Given the description of an element on the screen output the (x, y) to click on. 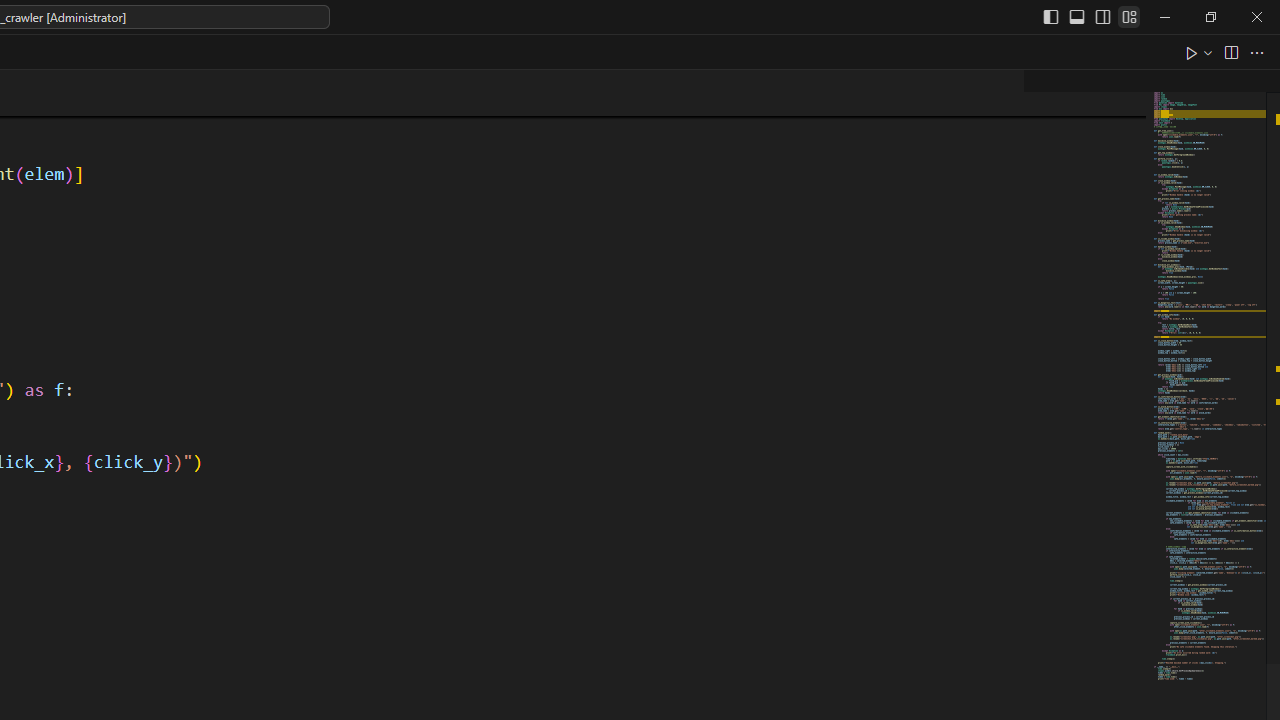
Run Python File (1192, 52)
Restore (1210, 16)
Toggle Panel (Ctrl+J) (1077, 16)
Customize Layout... (1128, 16)
Title actions (1089, 16)
Editor actions (1226, 52)
Toggle Primary Side Bar (Ctrl+B) (1050, 16)
Toggle Secondary Side Bar (Ctrl+Alt+B) (1102, 16)
Close (1256, 16)
More Actions... (1256, 52)
Run or Debug... (1208, 52)
Split Editor Right (Ctrl+\) [Alt] Split Editor Down (1230, 52)
Minimize (1165, 16)
